Given the description of an element on the screen output the (x, y) to click on. 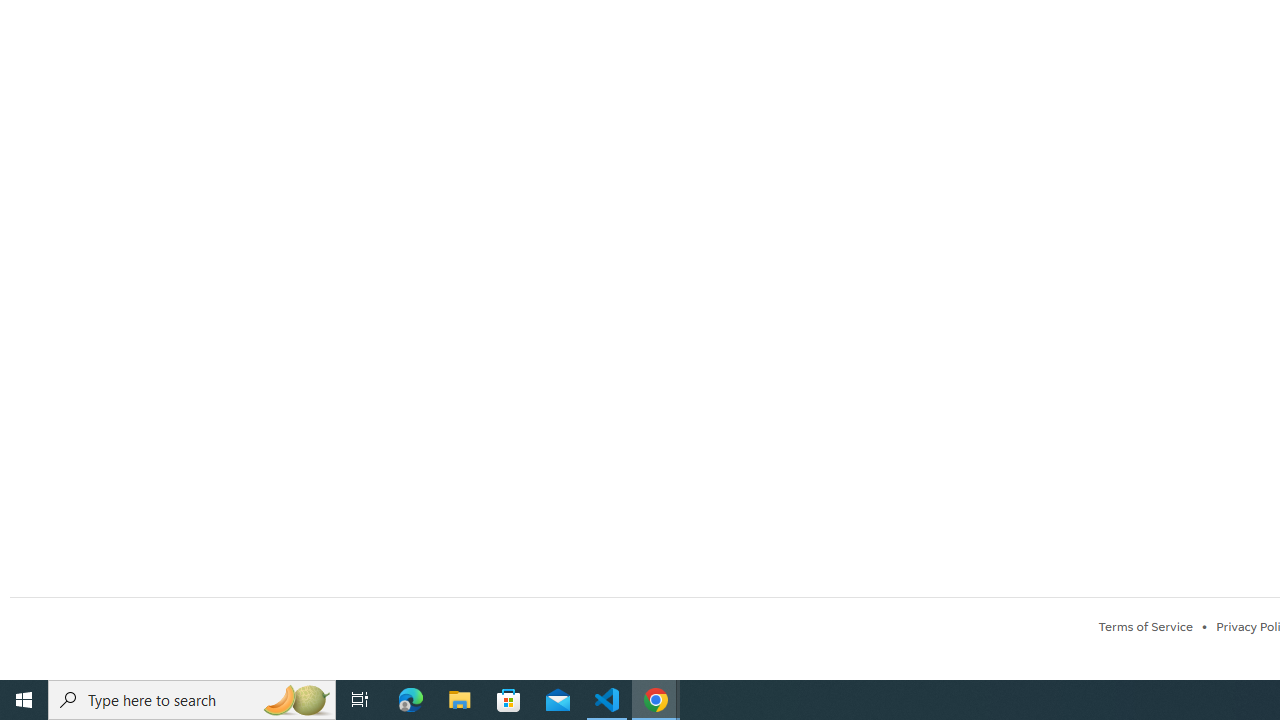
Terms of Service (1145, 626)
